Given the description of an element on the screen output the (x, y) to click on. 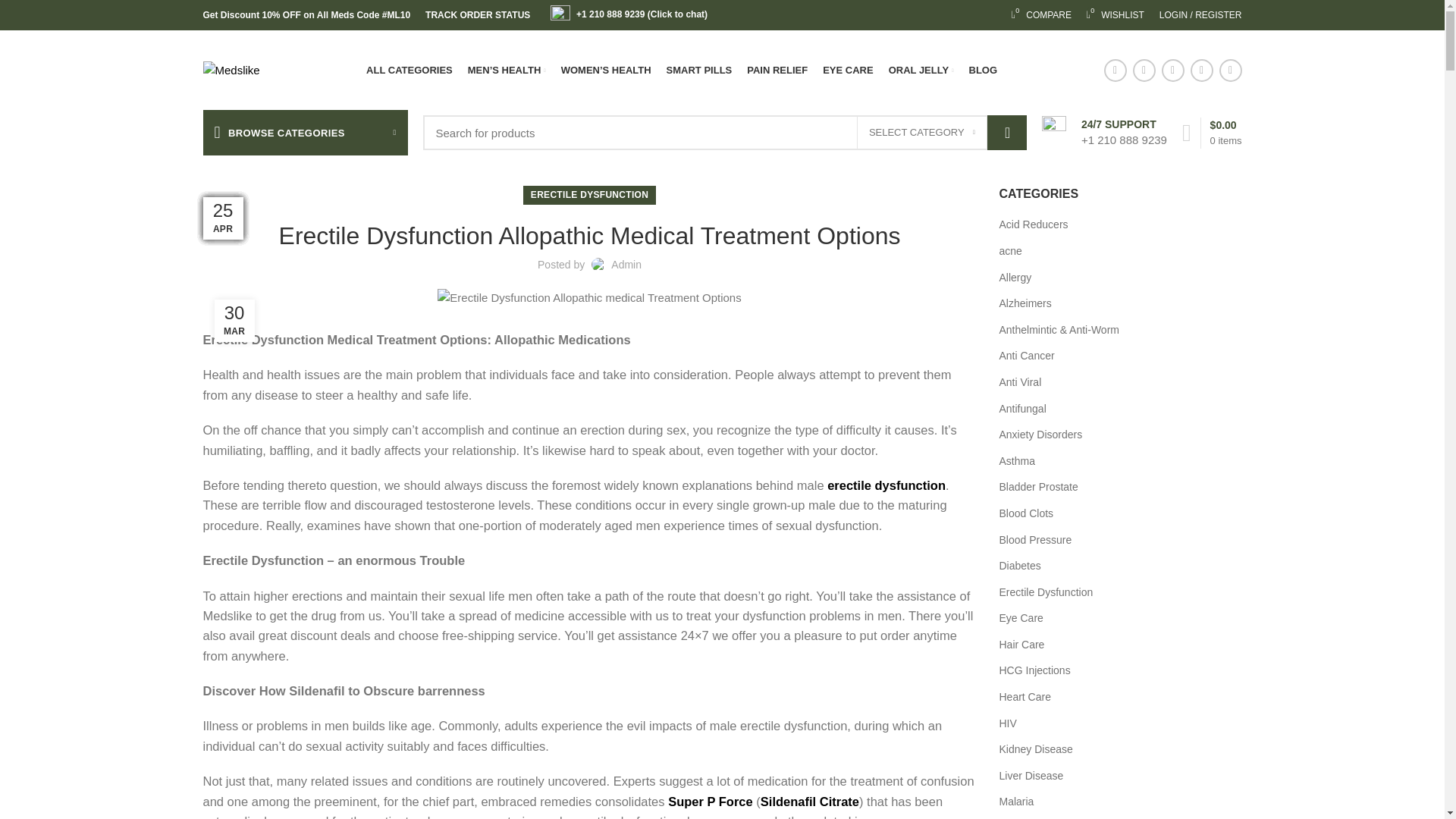
Compare products (1041, 15)
My Wishlist (1114, 15)
Log in (1116, 247)
My account (1200, 15)
SELECT CATEGORY (922, 132)
TRACK ORDER STATUS (477, 14)
PAIN RELIEF (1041, 15)
ALL CATEGORIES (777, 69)
